Given the description of an element on the screen output the (x, y) to click on. 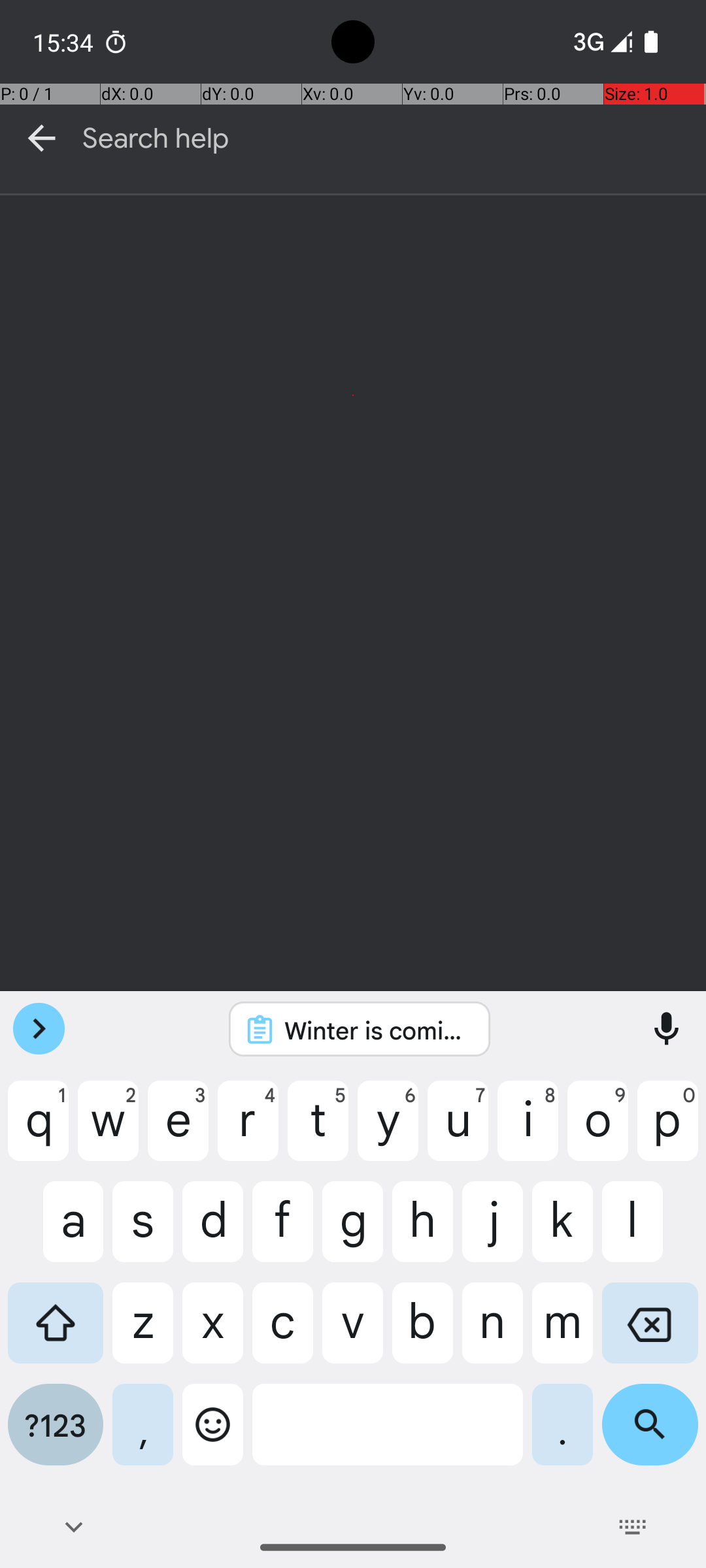
Search help Element type: android.widget.EditText (394, 138)
Winter is coming. Element type: android.widget.TextView (376, 1029)
